Given the description of an element on the screen output the (x, y) to click on. 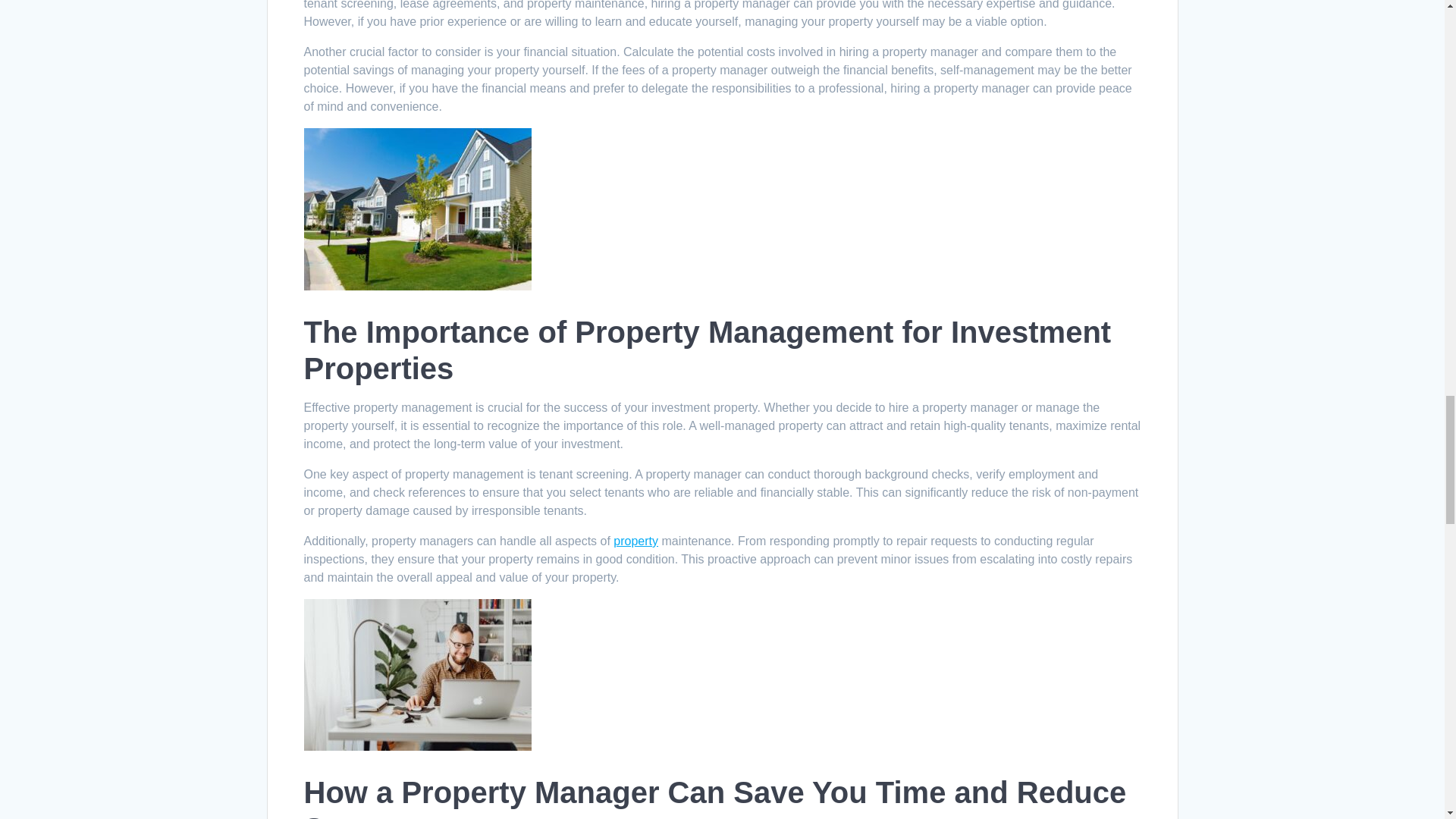
property (635, 540)
